Given the description of an element on the screen output the (x, y) to click on. 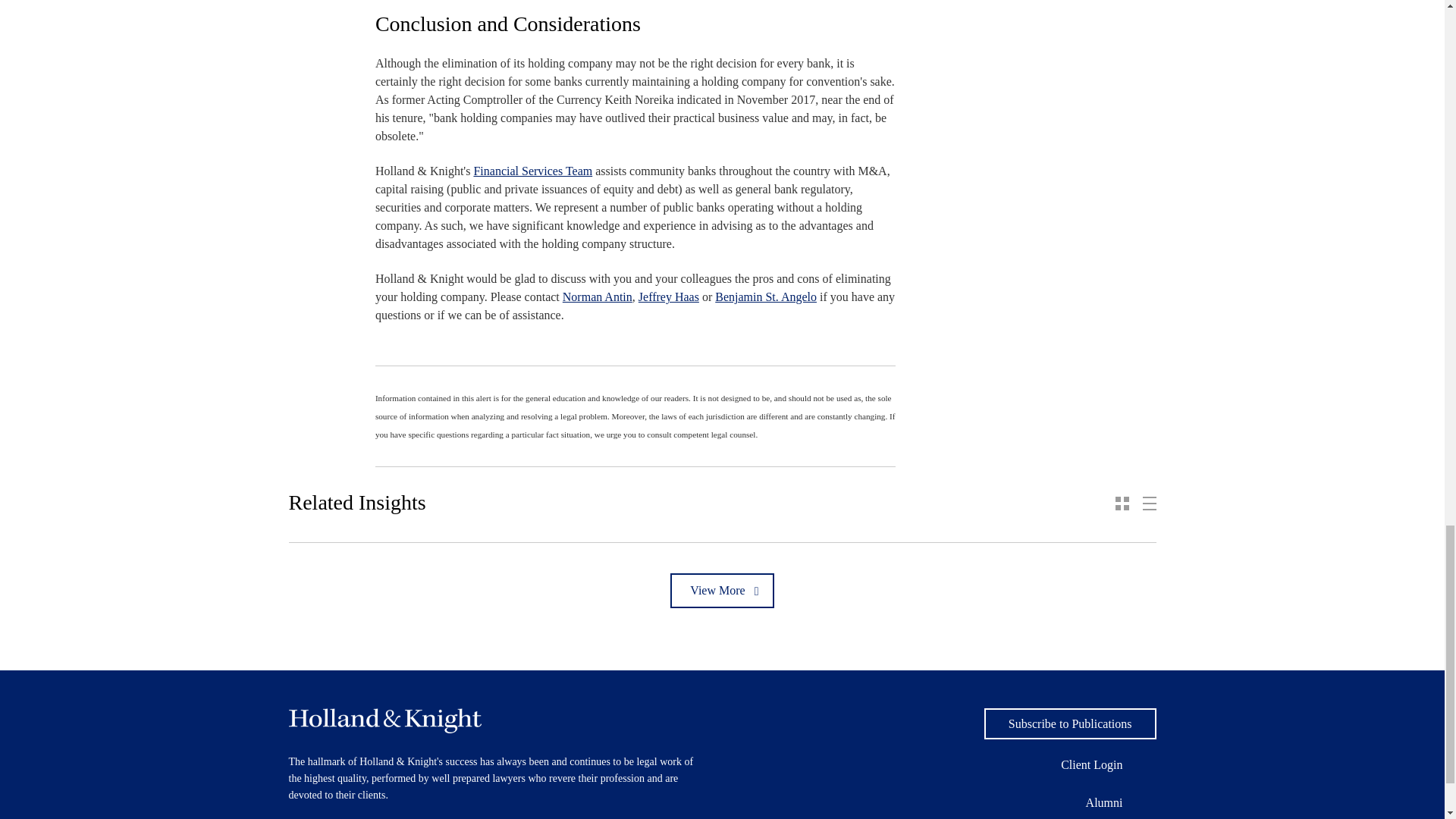
Norman Antin (596, 296)
Financial Services Team (532, 170)
